Given the description of an element on the screen output the (x, y) to click on. 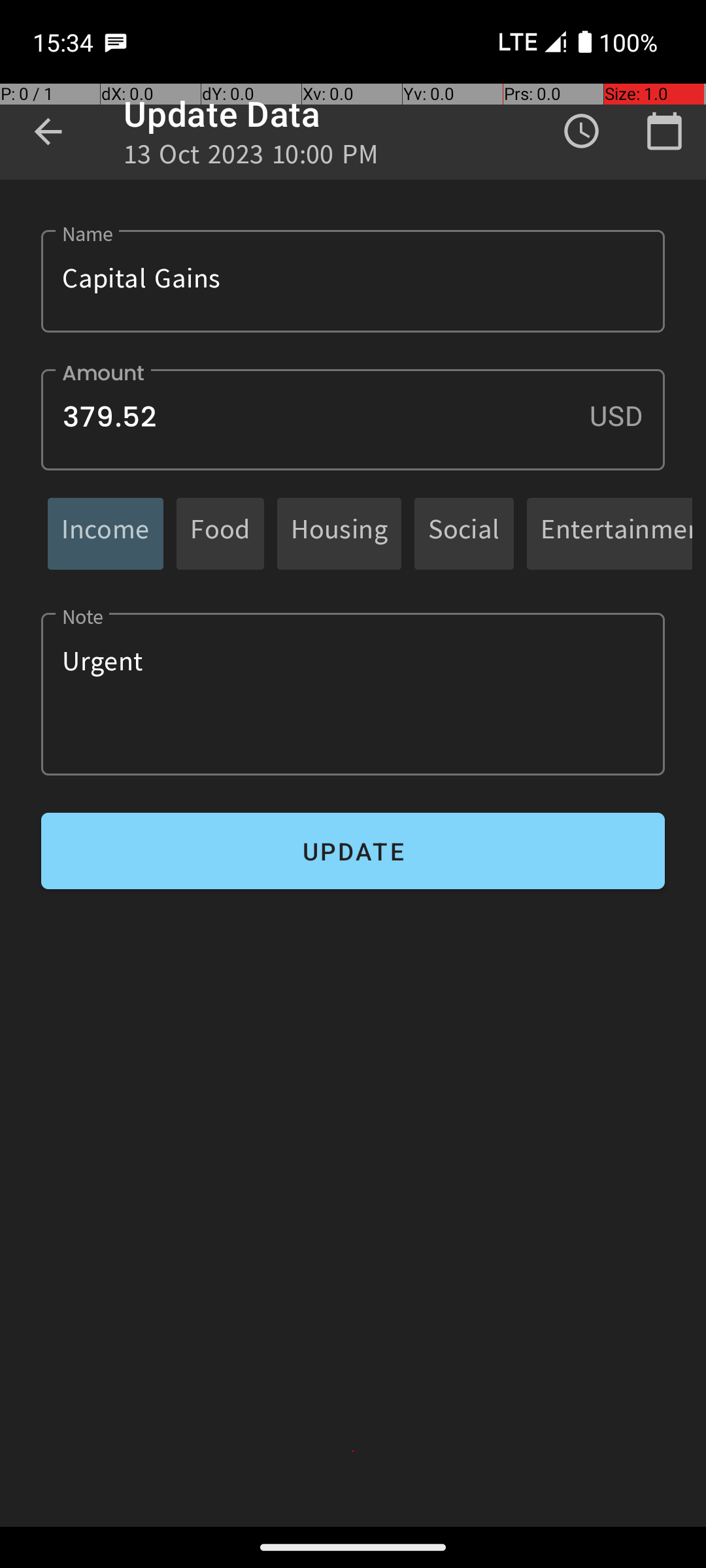
13 Oct 2023 10:00 PM Element type: android.widget.TextView (250, 157)
Capital Gains Element type: android.widget.EditText (352, 280)
379.52 Element type: android.widget.EditText (352, 419)
